Given the description of an element on the screen output the (x, y) to click on. 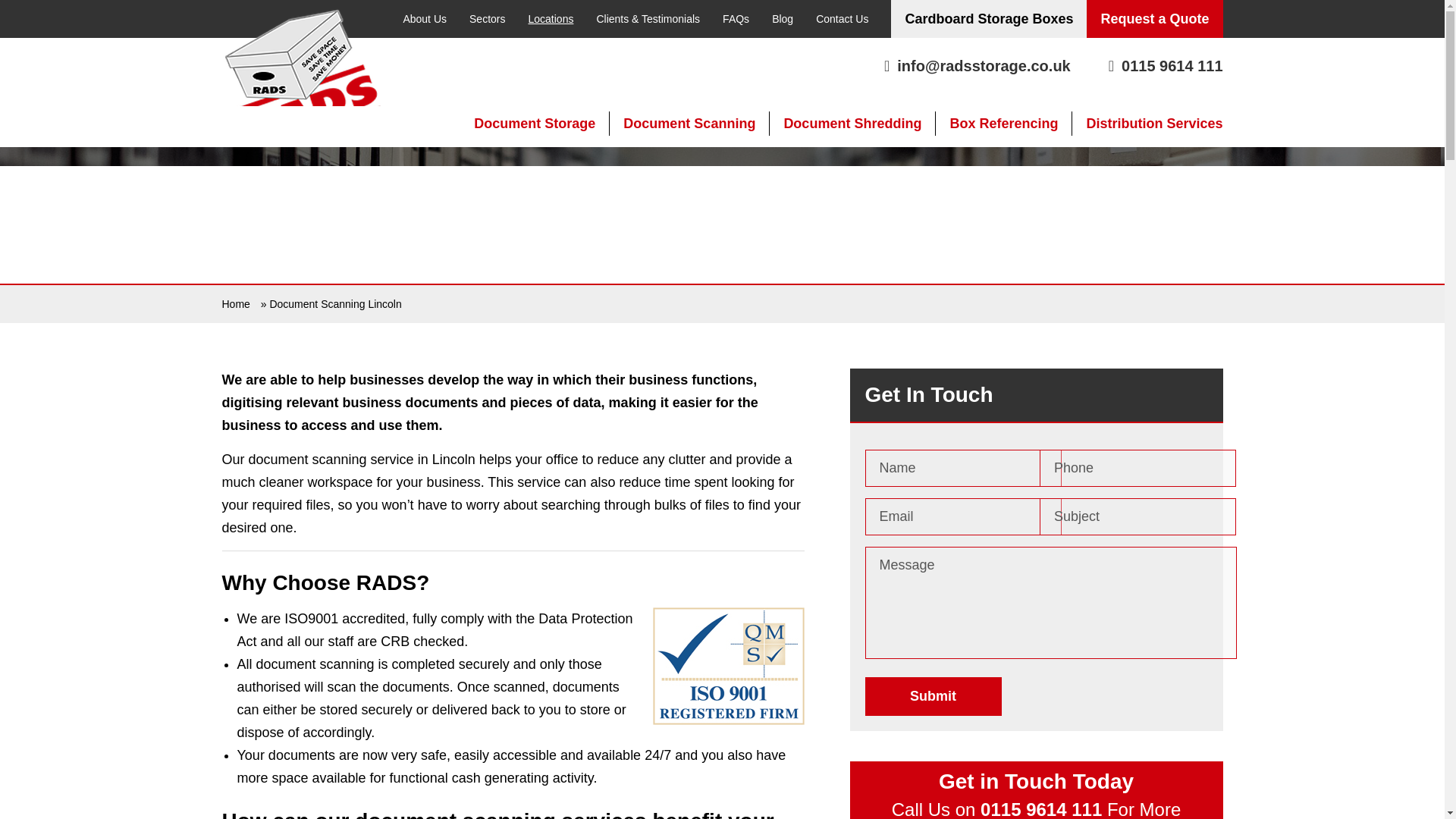
Document Storage (534, 123)
Document Shredding (852, 123)
Distribution Services (1154, 123)
0115 9614 111 (1165, 65)
About Us (424, 18)
Request a Quote (1154, 18)
Document Scanning (689, 123)
Locations (550, 18)
Home (234, 304)
Submit (932, 696)
